Given the description of an element on the screen output the (x, y) to click on. 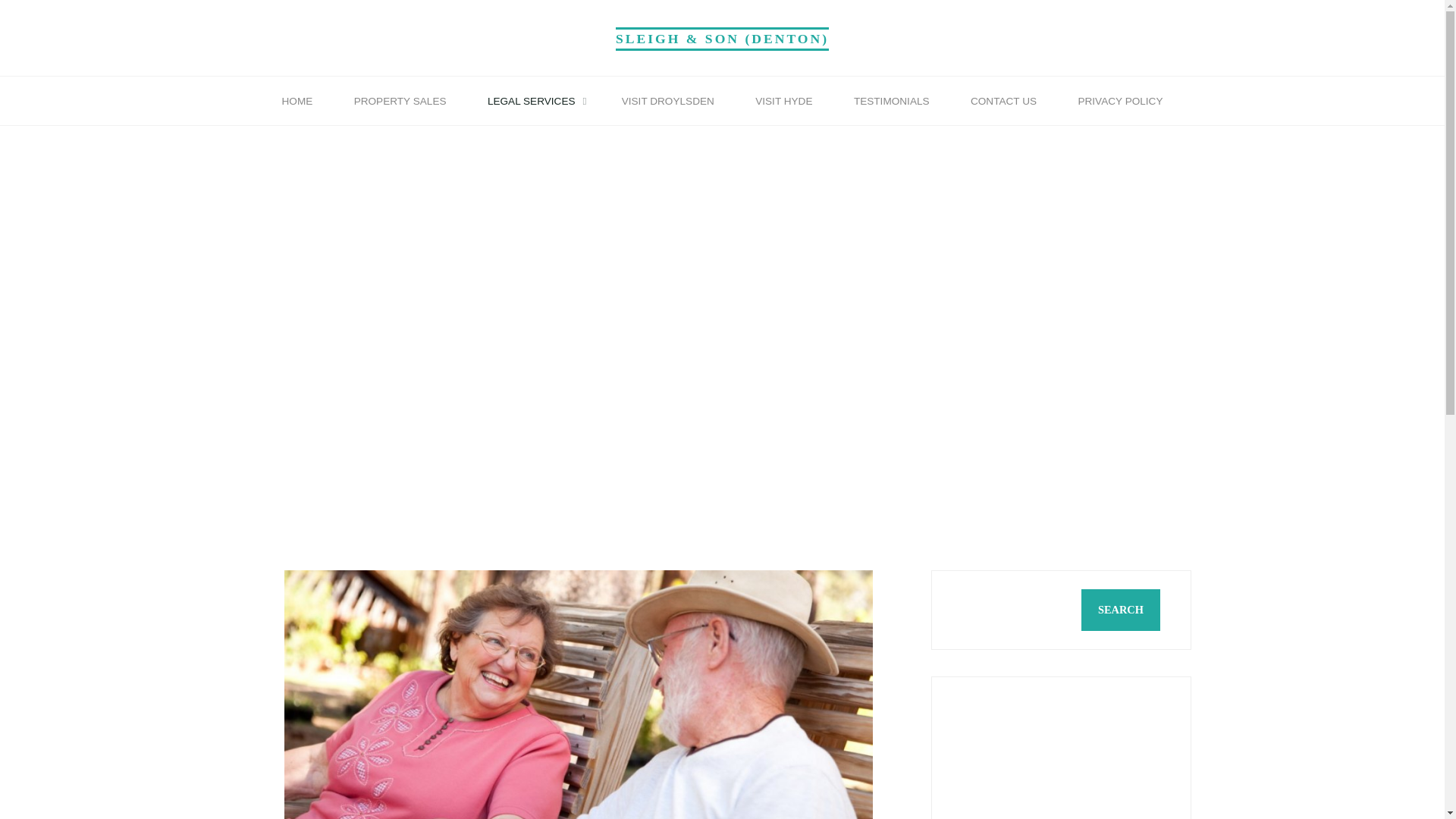
VISIT DROYLSDEN (668, 101)
PROPERTY SALES (399, 101)
VISIT HYDE (783, 101)
PRIVACY POLICY (1119, 101)
HOME (296, 101)
LEGAL SERVICES (534, 101)
SEARCH (1119, 609)
TESTIMONIALS (891, 101)
CONTACT US (1003, 101)
